Given the description of an element on the screen output the (x, y) to click on. 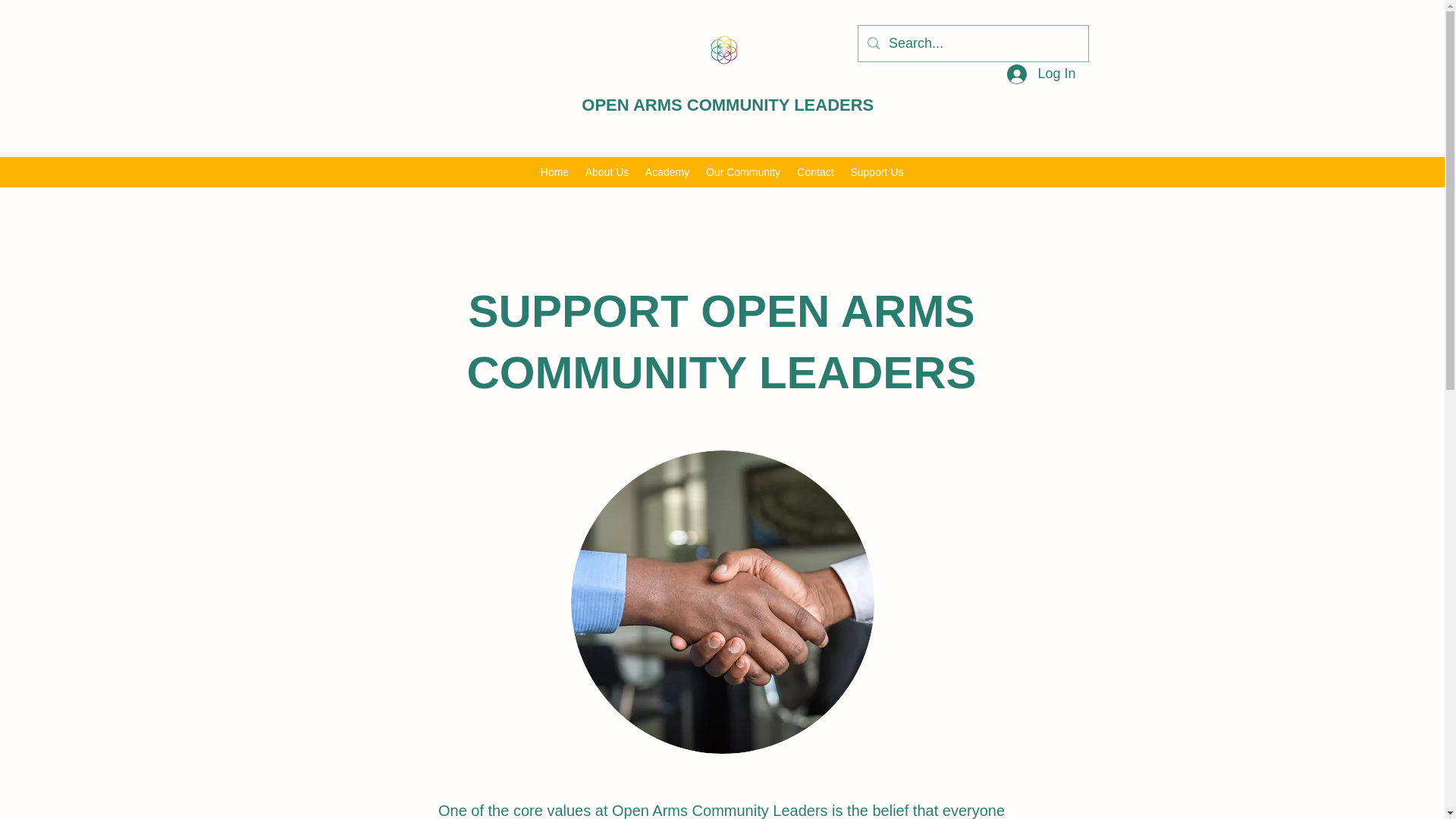
Support Us (876, 171)
About Us (606, 171)
Home (554, 171)
Our Community (743, 171)
Log In (1040, 73)
OPEN ARMS COMMUNITY LEADERS (726, 104)
Contact (815, 171)
Academy (667, 171)
